Given the description of an element on the screen output the (x, y) to click on. 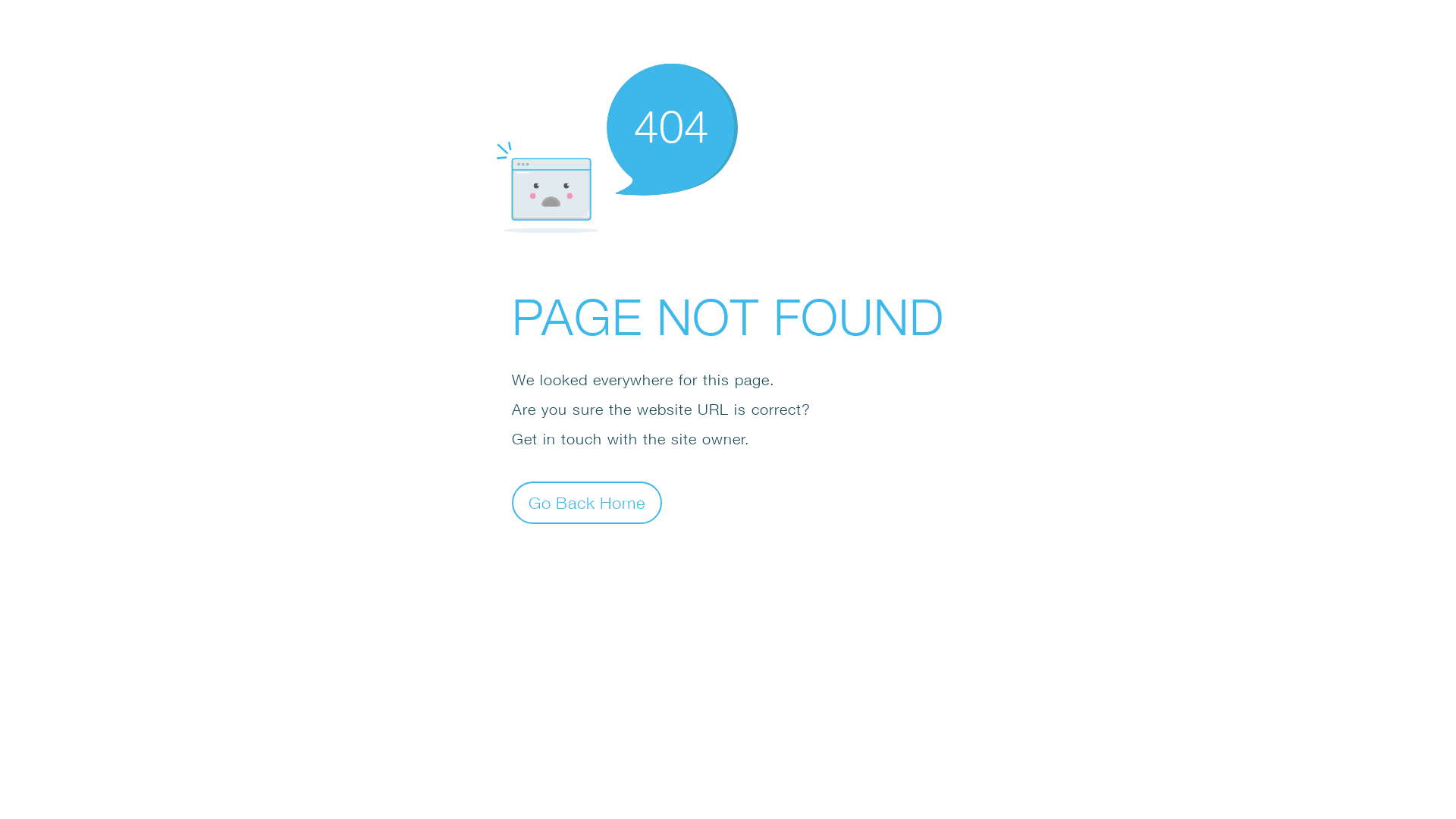
Go Back Home Element type: text (586, 502)
